Given the description of an element on the screen output the (x, y) to click on. 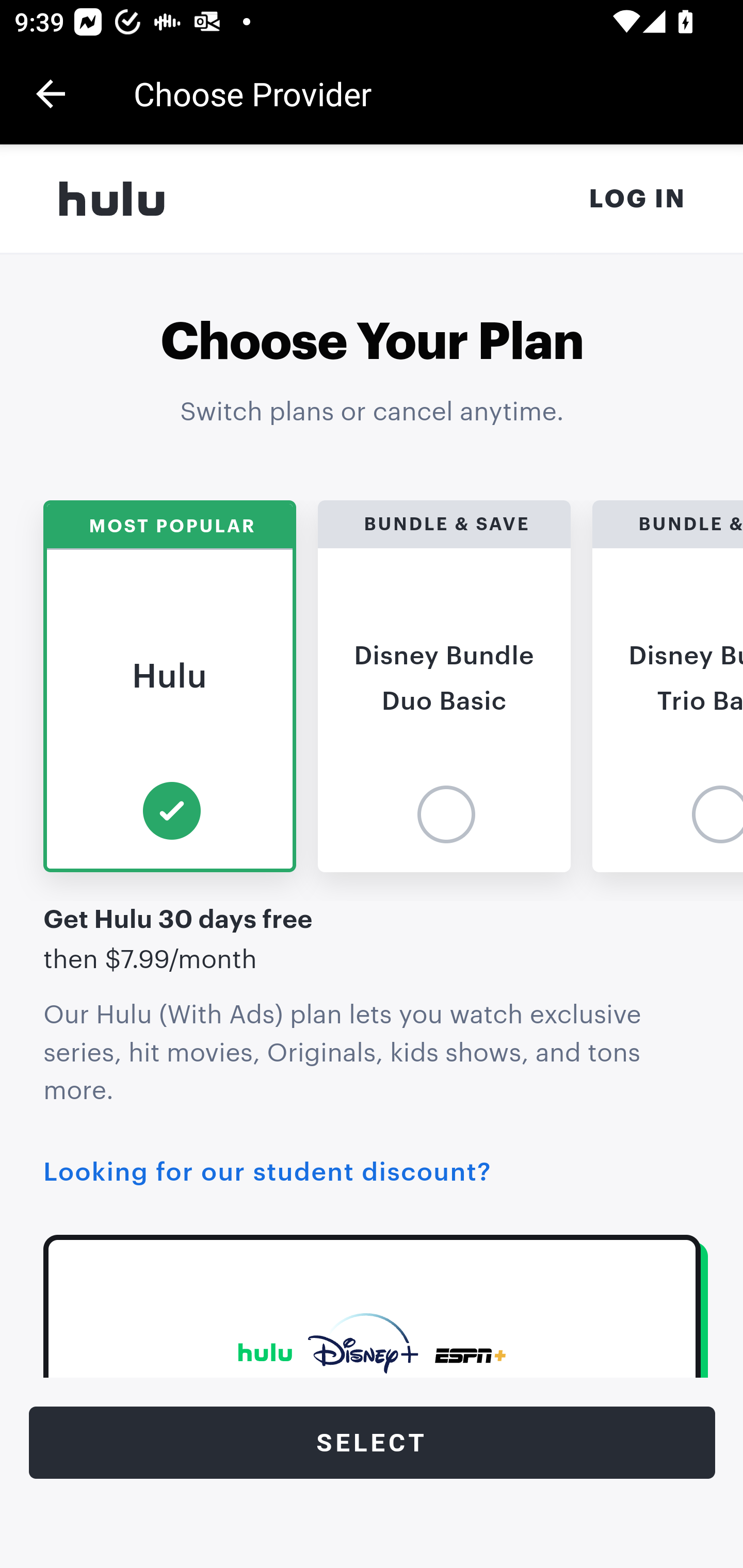
Navigate up (50, 93)
LOG IN (638, 199)
MOST POPULAR Hulu (169, 685)
BUNDLE & SAVE Disney Bundle Duo Basic (444, 685)
BUNDLE & SAVE Disney Bundle Trio Basic (667, 685)
Looking for our student discount? (267, 1171)
Select Hulu for $7.99/month (372, 1443)
